Given the description of an element on the screen output the (x, y) to click on. 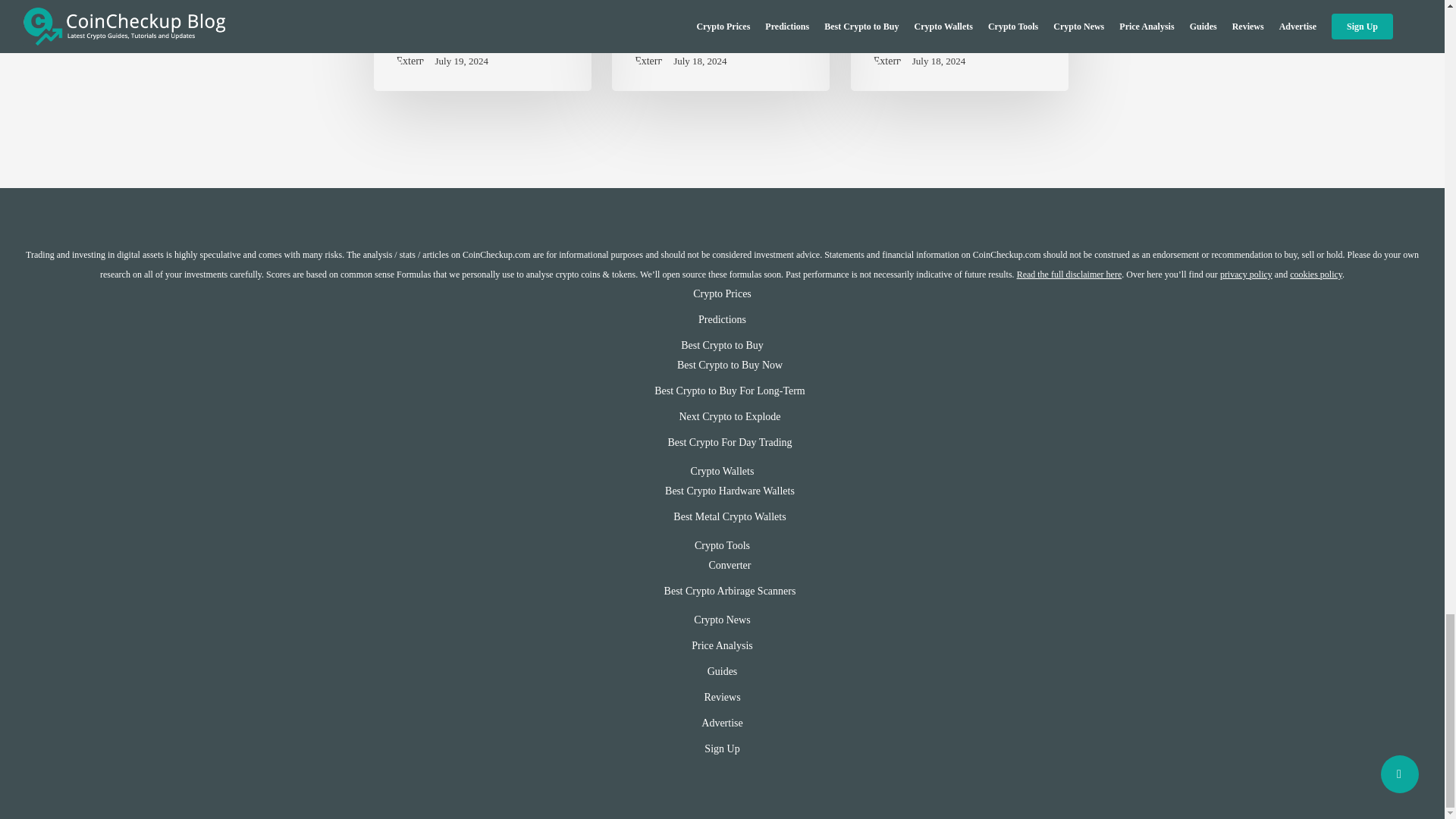
External Team (466, 46)
